Given the description of an element on the screen output the (x, y) to click on. 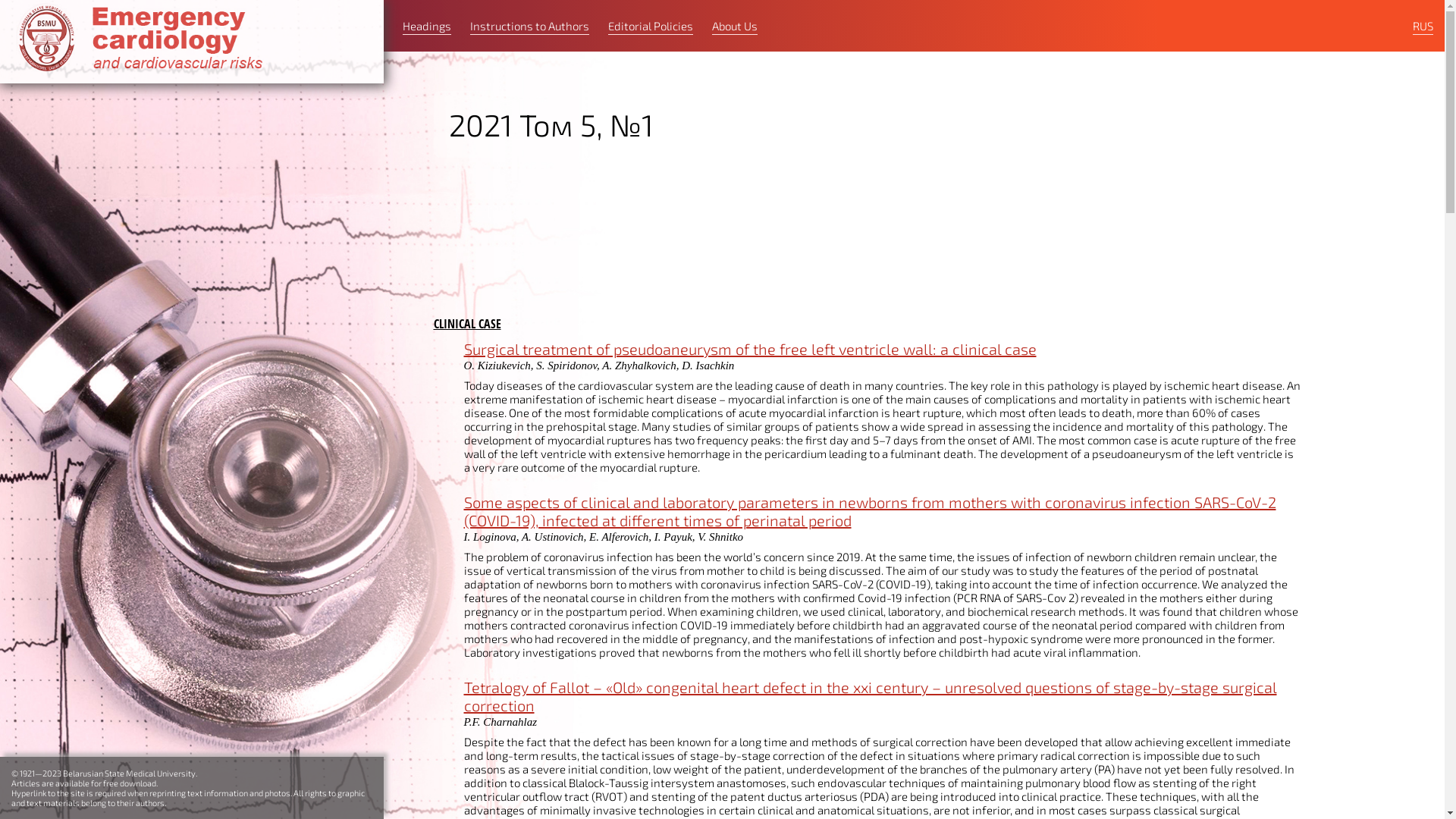
Editorial Policies Element type: text (650, 26)
CLINICAL CASE Element type: text (467, 323)
RUS Element type: text (1422, 26)
Headings Element type: text (426, 26)
About Us Element type: text (734, 26)
Instructions to Authors Element type: text (529, 26)
